Given the description of an element on the screen output the (x, y) to click on. 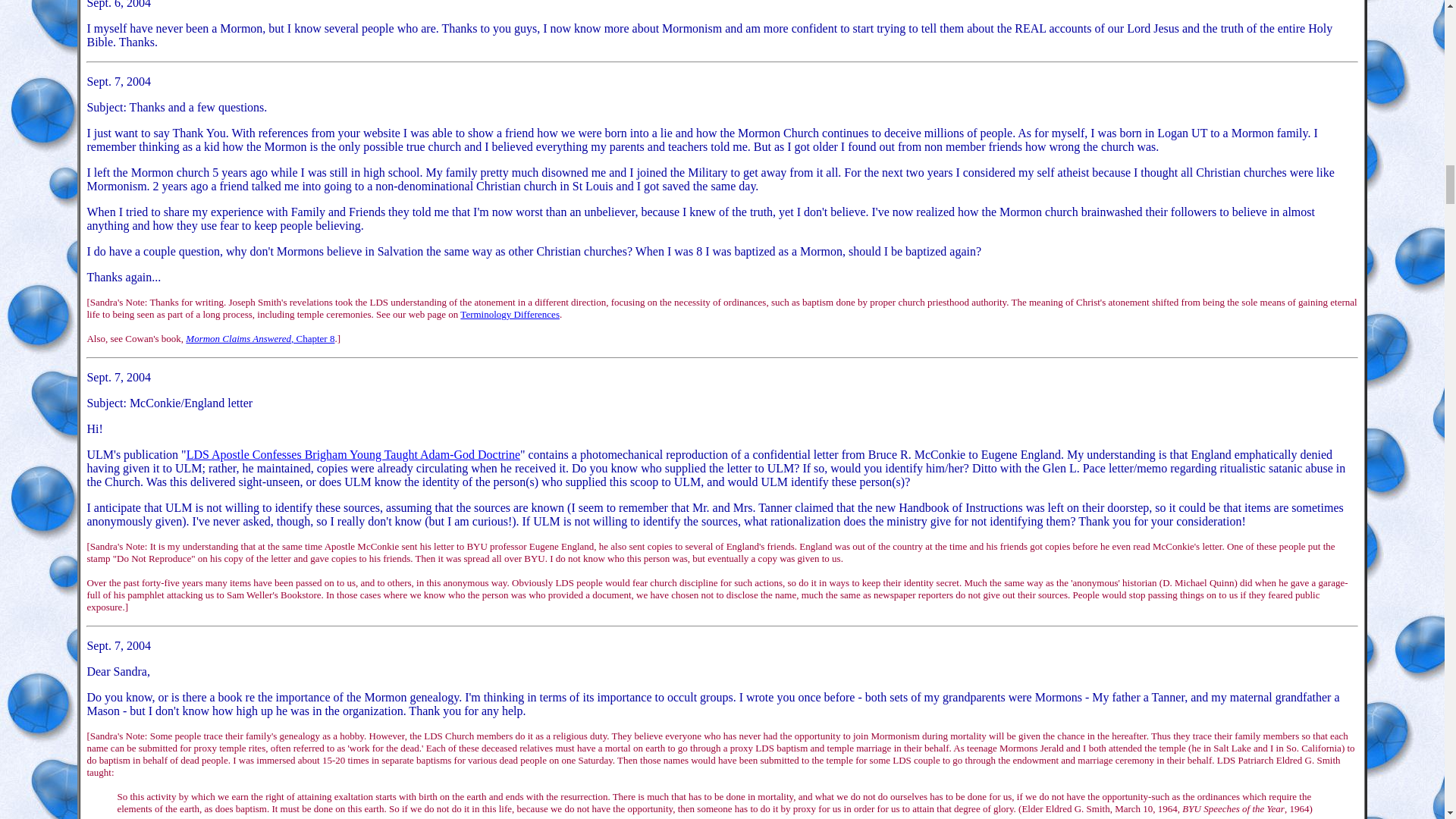
LDS Apostle Confesses Brigham Young Taught Adam-God Doctrine (352, 454)
Terminology Differences (509, 314)
Mormon Claims Answered, Chapter 8 (260, 337)
